Given the description of an element on the screen output the (x, y) to click on. 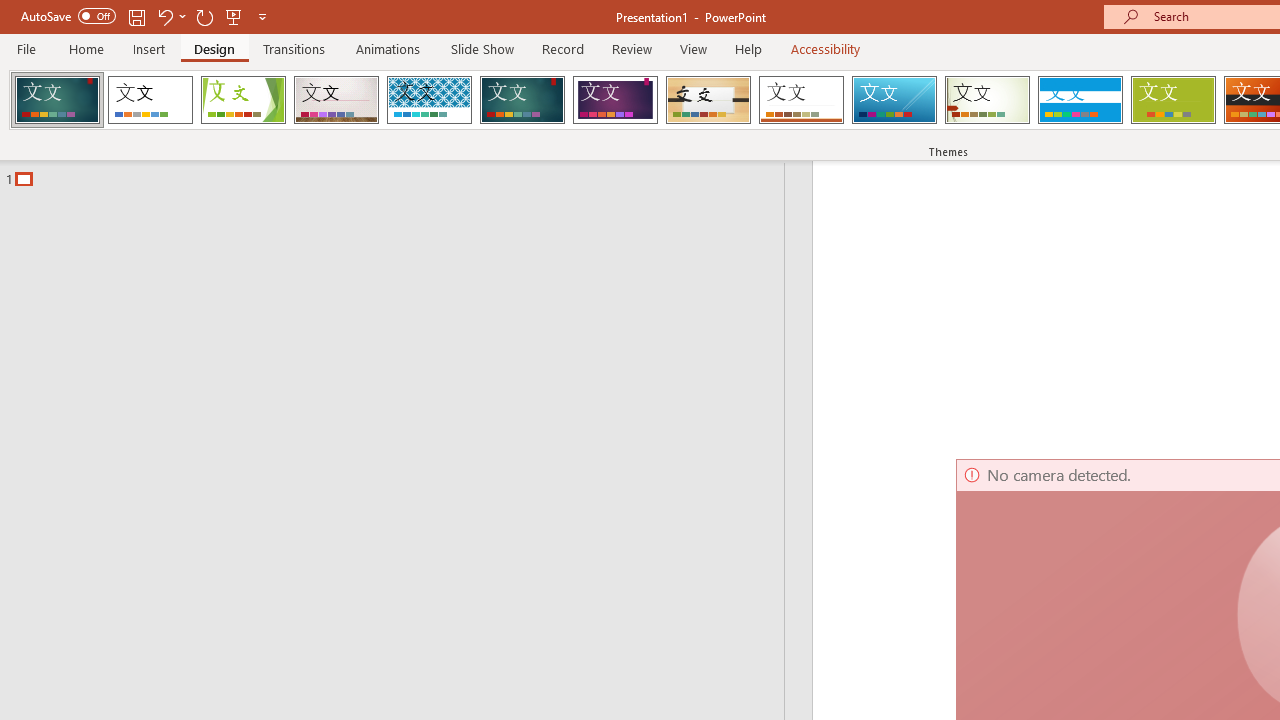
Ion Boardroom (615, 100)
